Given the description of an element on the screen output the (x, y) to click on. 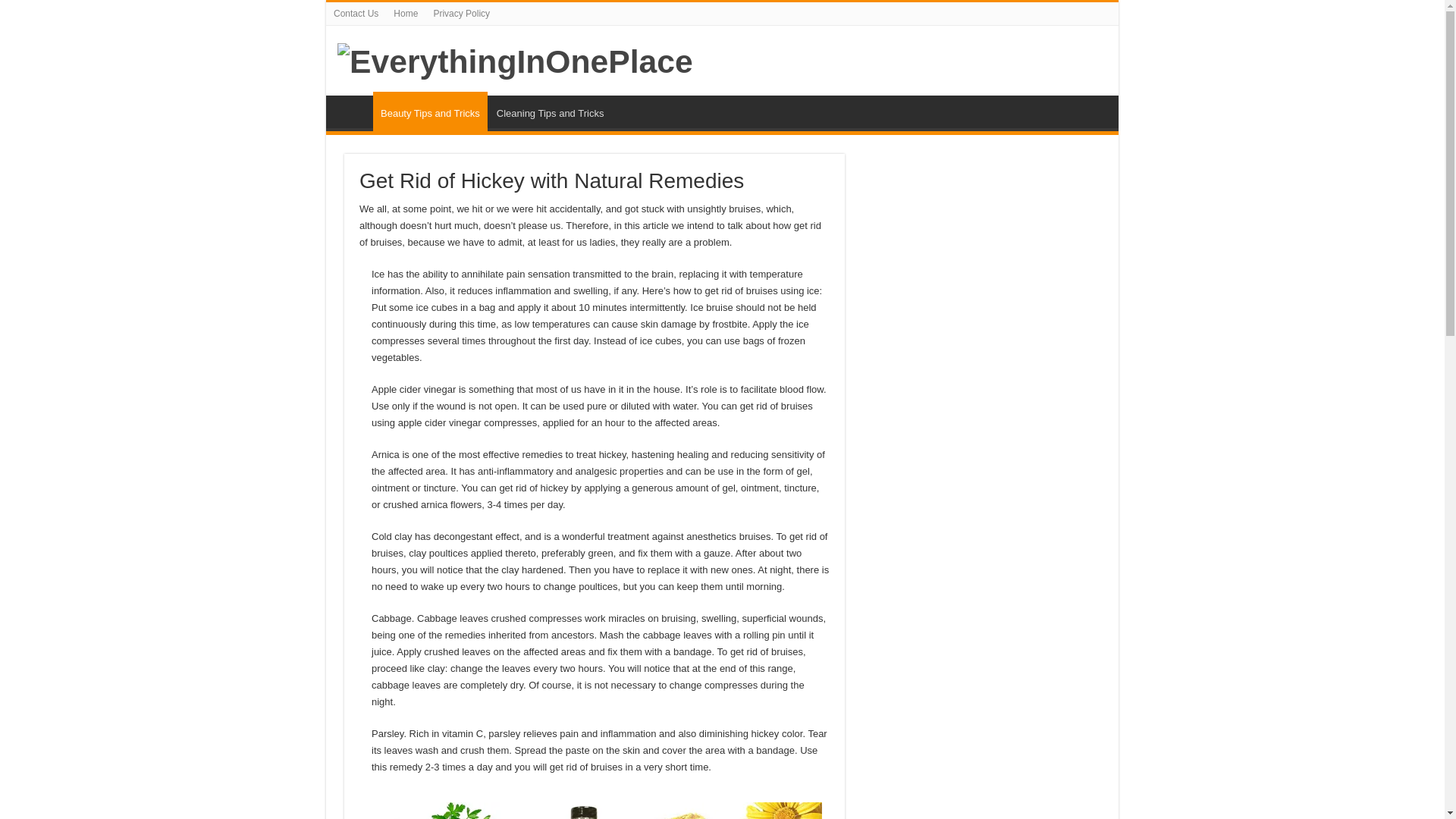
Contact Us (355, 13)
Cleaning Tips and Tricks (549, 111)
EverythingInOnePlace (515, 58)
Privacy Policy (461, 13)
Home (405, 13)
Beauty Tips and Tricks (429, 111)
Home (352, 111)
